Given the description of an element on the screen output the (x, y) to click on. 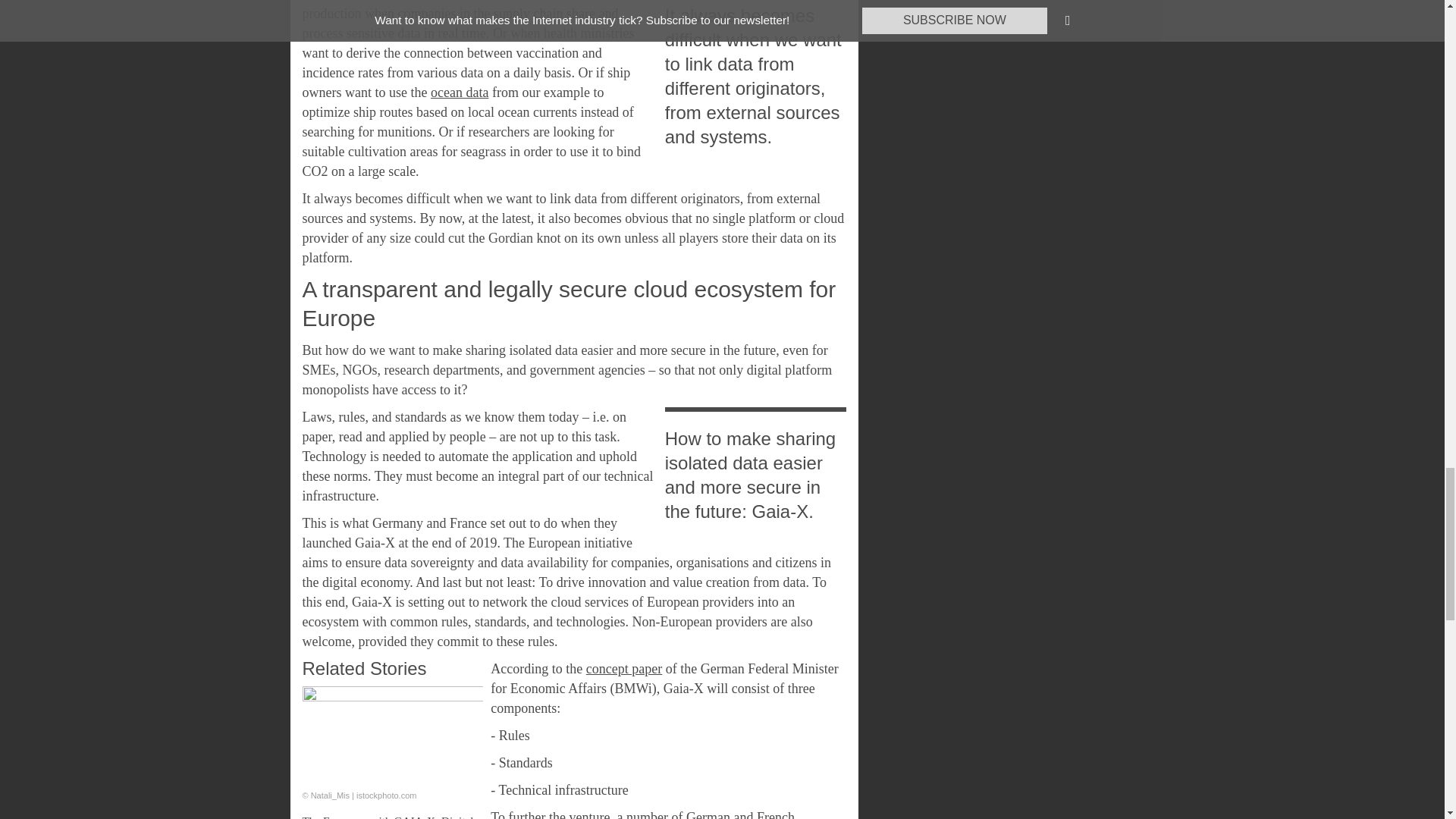
ocean data (458, 92)
concept paper (624, 668)
The Economy with GAIA-X: Digital, Innovative, Sustainable (388, 816)
